Given the description of an element on the screen output the (x, y) to click on. 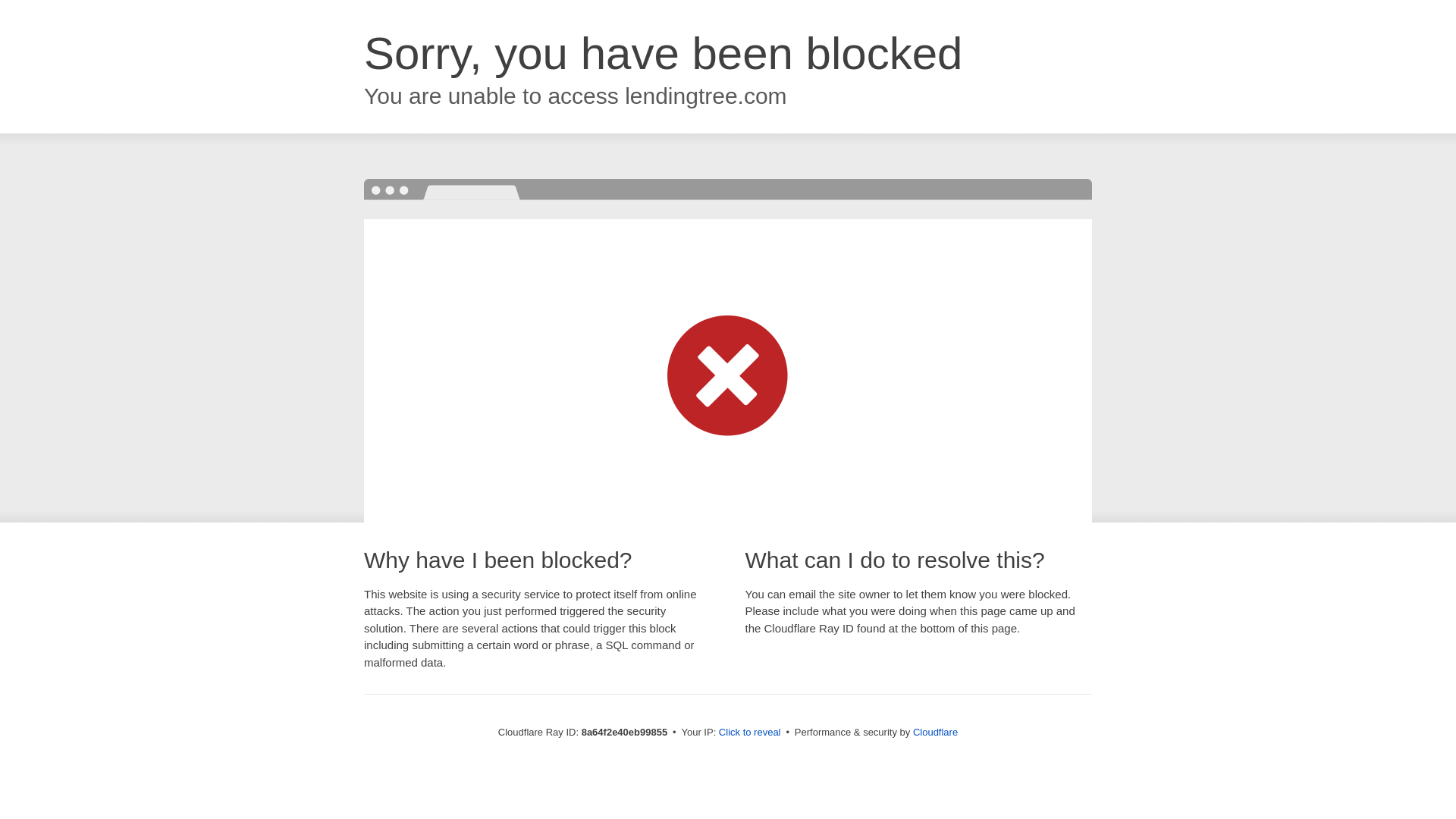
Cloudflare (935, 731)
Click to reveal (749, 732)
